Given the description of an element on the screen output the (x, y) to click on. 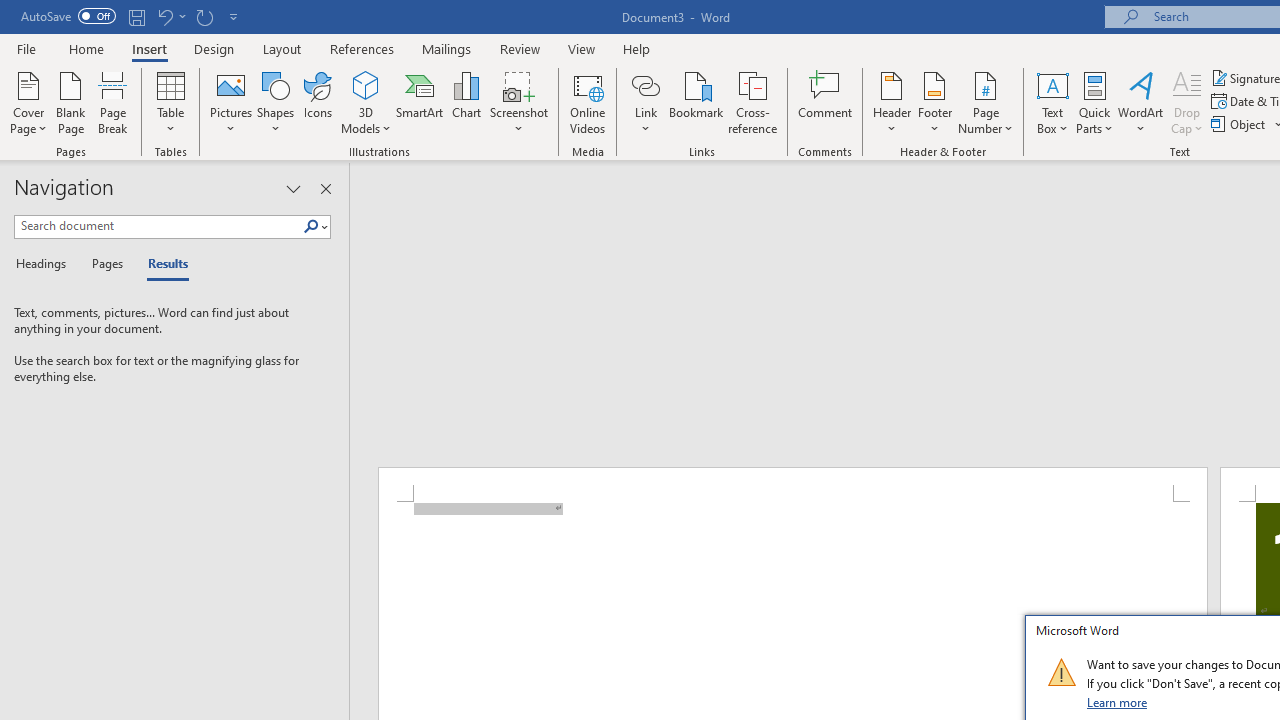
Comment (825, 102)
Cover Page (28, 102)
Online Videos... (588, 102)
Quick Parts (1094, 102)
Icons (317, 102)
Drop Cap (1187, 102)
Text Box (1052, 102)
